Given the description of an element on the screen output the (x, y) to click on. 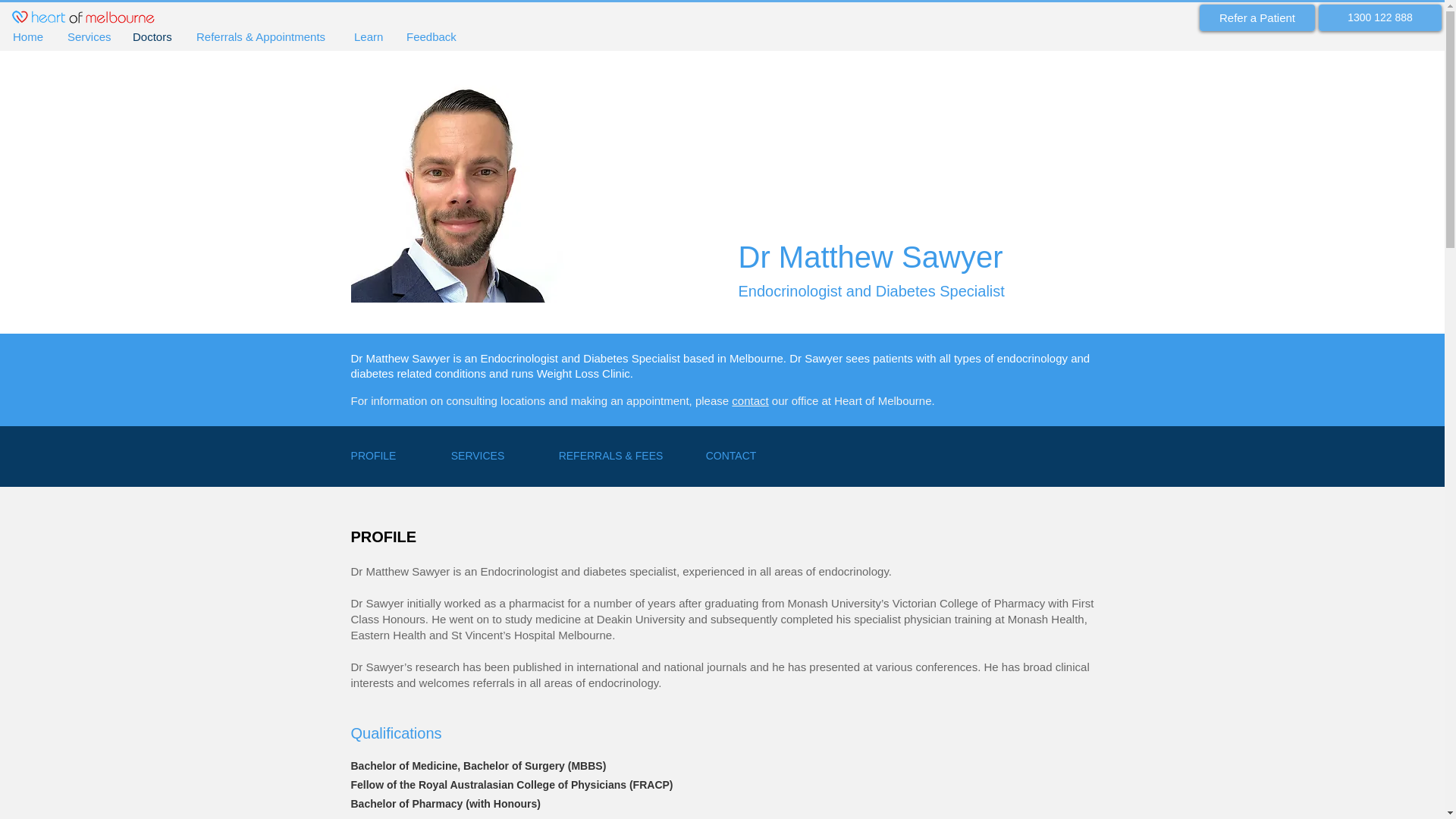
Home (28, 36)
Services (88, 36)
Doctors (152, 36)
